Given the description of an element on the screen output the (x, y) to click on. 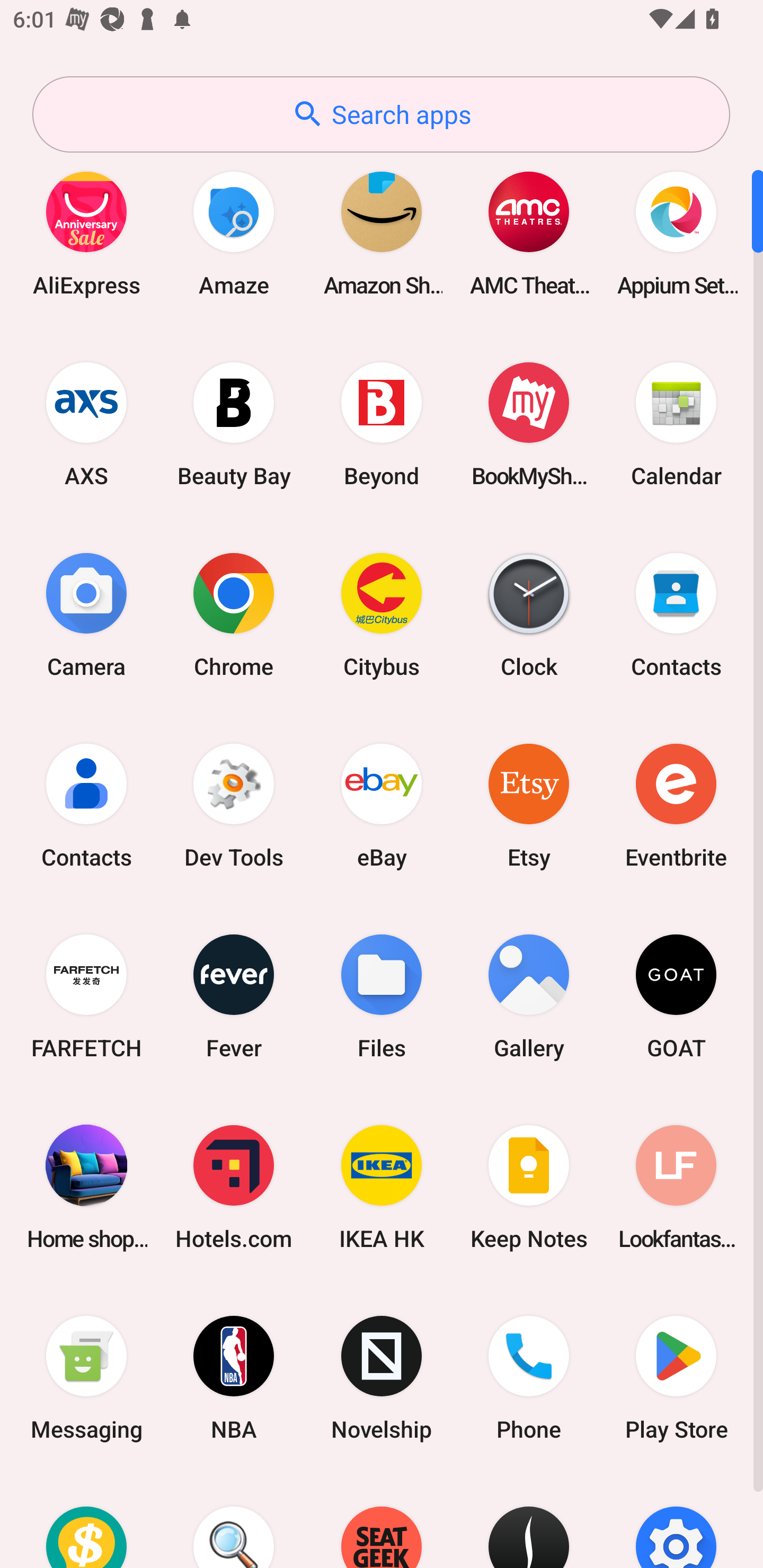
  Search apps (381, 114)
AliExpress (86, 233)
Amaze (233, 233)
Amazon Shopping (381, 233)
AMC Theatres (528, 233)
Appium Settings (676, 233)
AXS (86, 424)
Beauty Bay (233, 424)
Beyond (381, 424)
BookMyShow (528, 424)
Calendar (676, 424)
Camera (86, 614)
Chrome (233, 614)
Citybus (381, 614)
Clock (528, 614)
Contacts (676, 614)
Contacts (86, 805)
Dev Tools (233, 805)
eBay (381, 805)
Etsy (528, 805)
Eventbrite (676, 805)
FARFETCH (86, 996)
Fever (233, 996)
Files (381, 996)
Gallery (528, 996)
GOAT (676, 996)
Home shopping (86, 1186)
Hotels.com (233, 1186)
IKEA HK (381, 1186)
Keep Notes (528, 1186)
Lookfantastic (676, 1186)
Messaging (86, 1377)
NBA (233, 1377)
Novelship (381, 1377)
Phone (528, 1377)
Play Store (676, 1377)
